Given the description of an element on the screen output the (x, y) to click on. 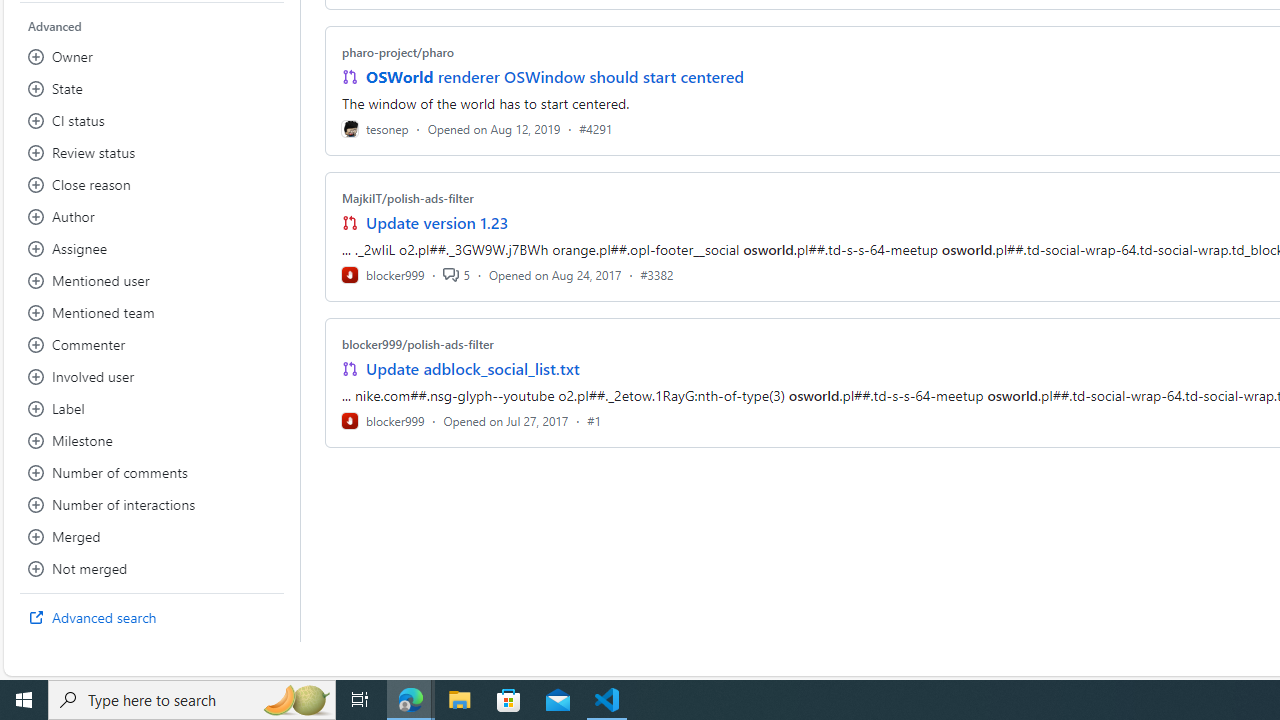
#3382 (657, 273)
MajkiIT/polish-ads-filter (407, 197)
#1 (594, 420)
Update adblock_social_list.txt (472, 368)
OSWorld renderer OSWindow should start centered (554, 76)
blocker999 (382, 420)
